Given the description of an element on the screen output the (x, y) to click on. 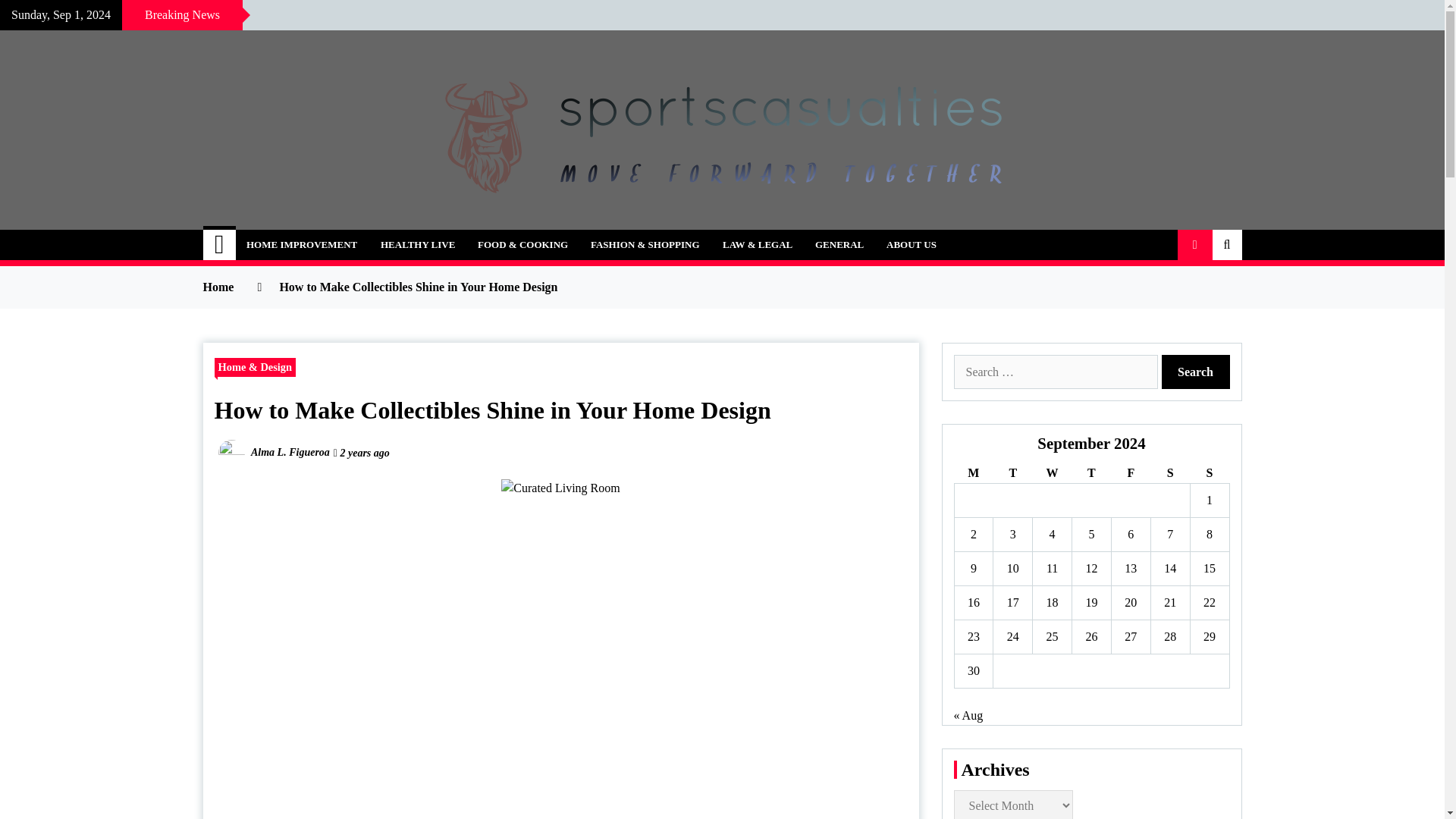
Search (1195, 371)
Sunday (1208, 473)
HOME IMPROVEMENT (301, 245)
sportscasualties (316, 236)
ABOUT US (911, 245)
Saturday (1169, 473)
HEALTHY LIVE (417, 245)
Search (1195, 371)
GENERAL (839, 245)
Thursday (1091, 473)
